Given the description of an element on the screen output the (x, y) to click on. 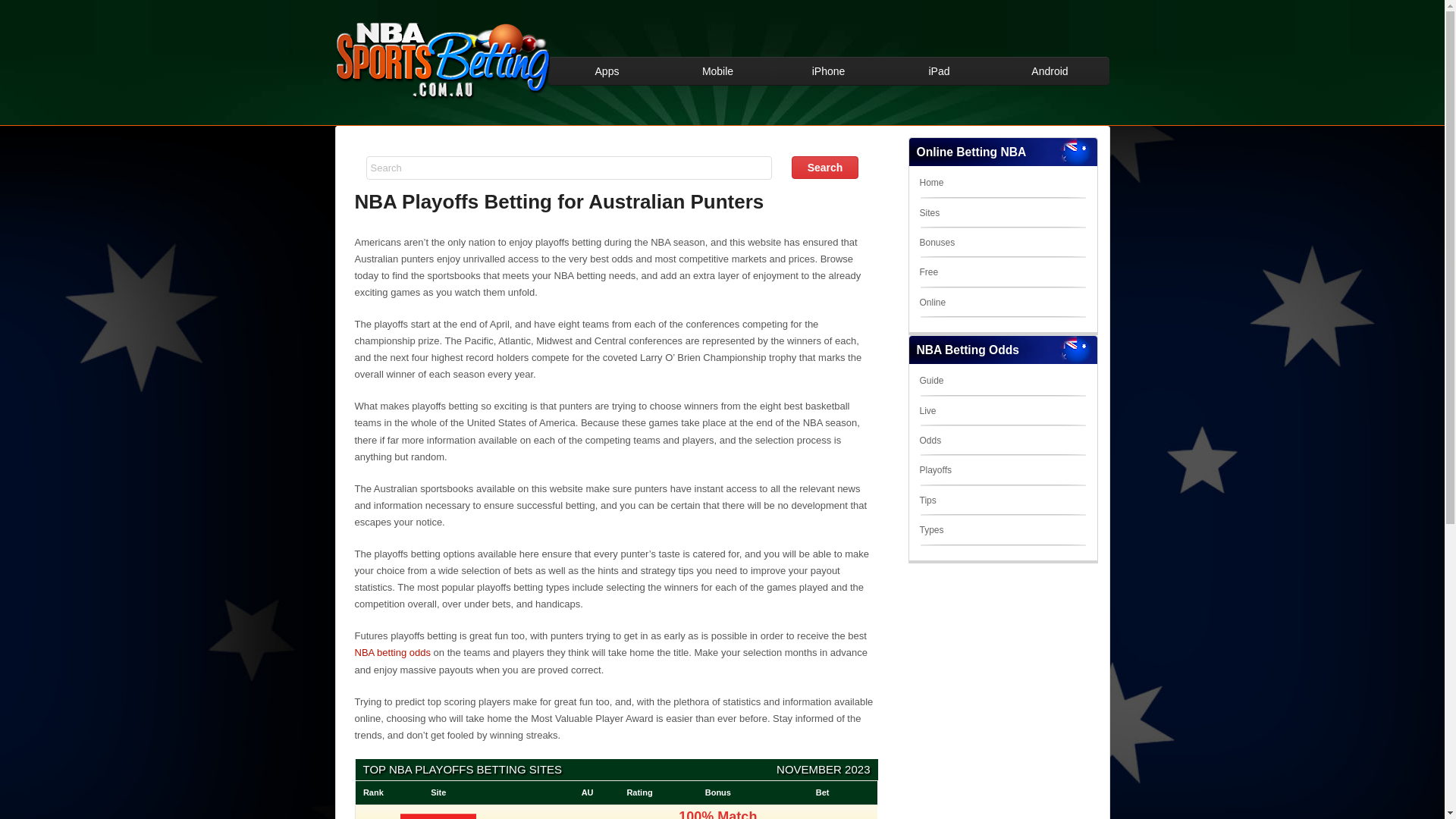
Mobile Element type: text (717, 70)
Tips Element type: text (927, 500)
iPhone Element type: text (828, 70)
Sites Element type: text (929, 212)
Playoffs Element type: text (934, 469)
Bonuses Element type: text (936, 242)
Live Element type: text (927, 410)
iPad Element type: text (939, 70)
Guide Element type: text (931, 380)
NBA betting odds Element type: text (392, 652)
Home Element type: text (931, 182)
Free Element type: text (928, 271)
Apps Element type: text (607, 70)
Search Element type: text (824, 167)
Odds Element type: text (930, 440)
Android Element type: text (1049, 70)
Online Element type: text (932, 302)
Types Element type: text (931, 529)
